Given the description of an element on the screen output the (x, y) to click on. 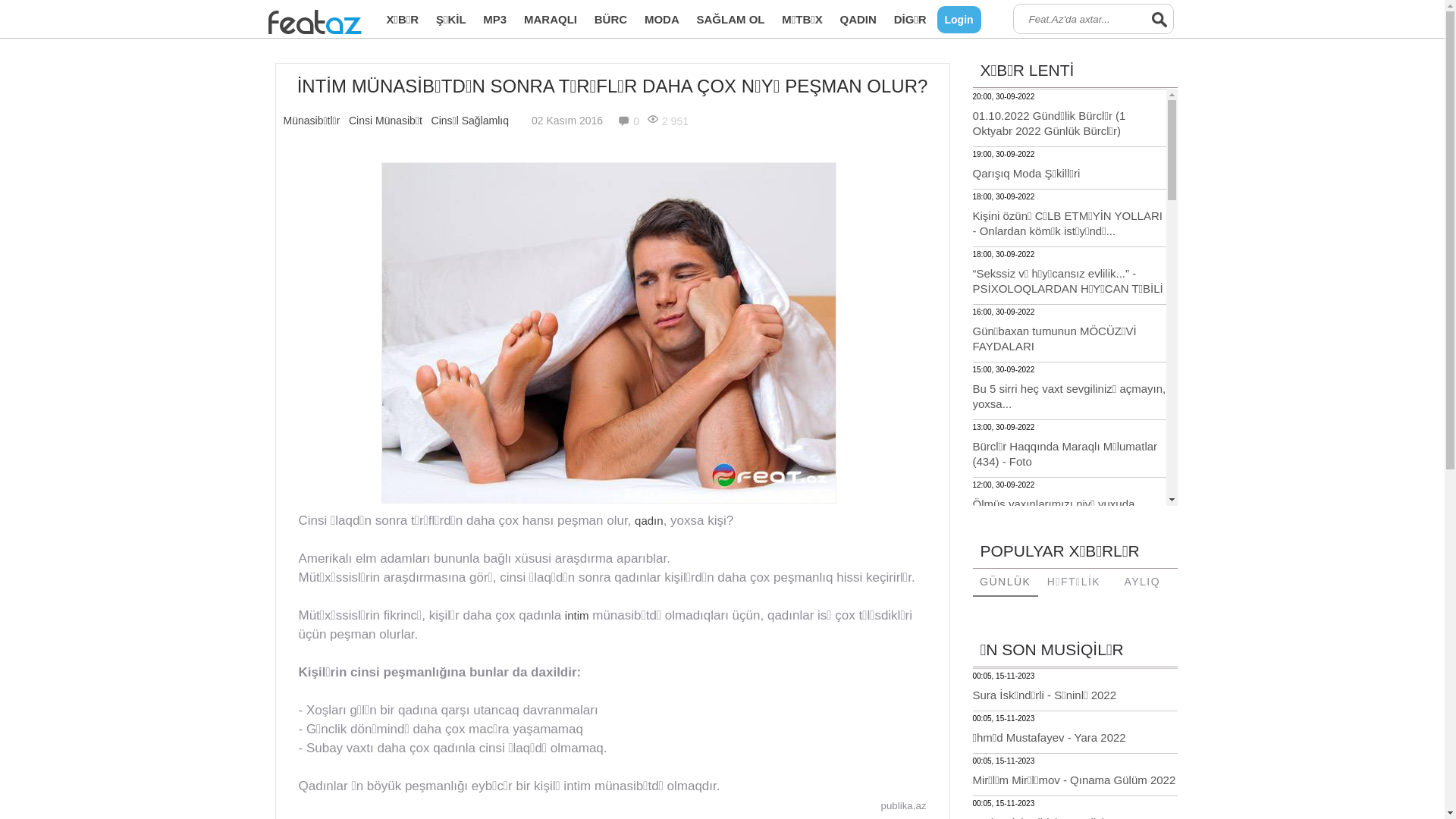
Axtar Element type: hover (1158, 18)
intim Element type: text (576, 614)
QADIN Element type: text (858, 19)
AZ Element type: text (344, 22)
MP3 Element type: text (494, 19)
MARAQLI Element type: text (550, 19)
MODA Element type: text (661, 19)
Romantika yoxsa Ehtiras ? Element type: text (1039, 761)
Login Element type: text (959, 19)
FEAT Element type: text (297, 22)
